Given the description of an element on the screen output the (x, y) to click on. 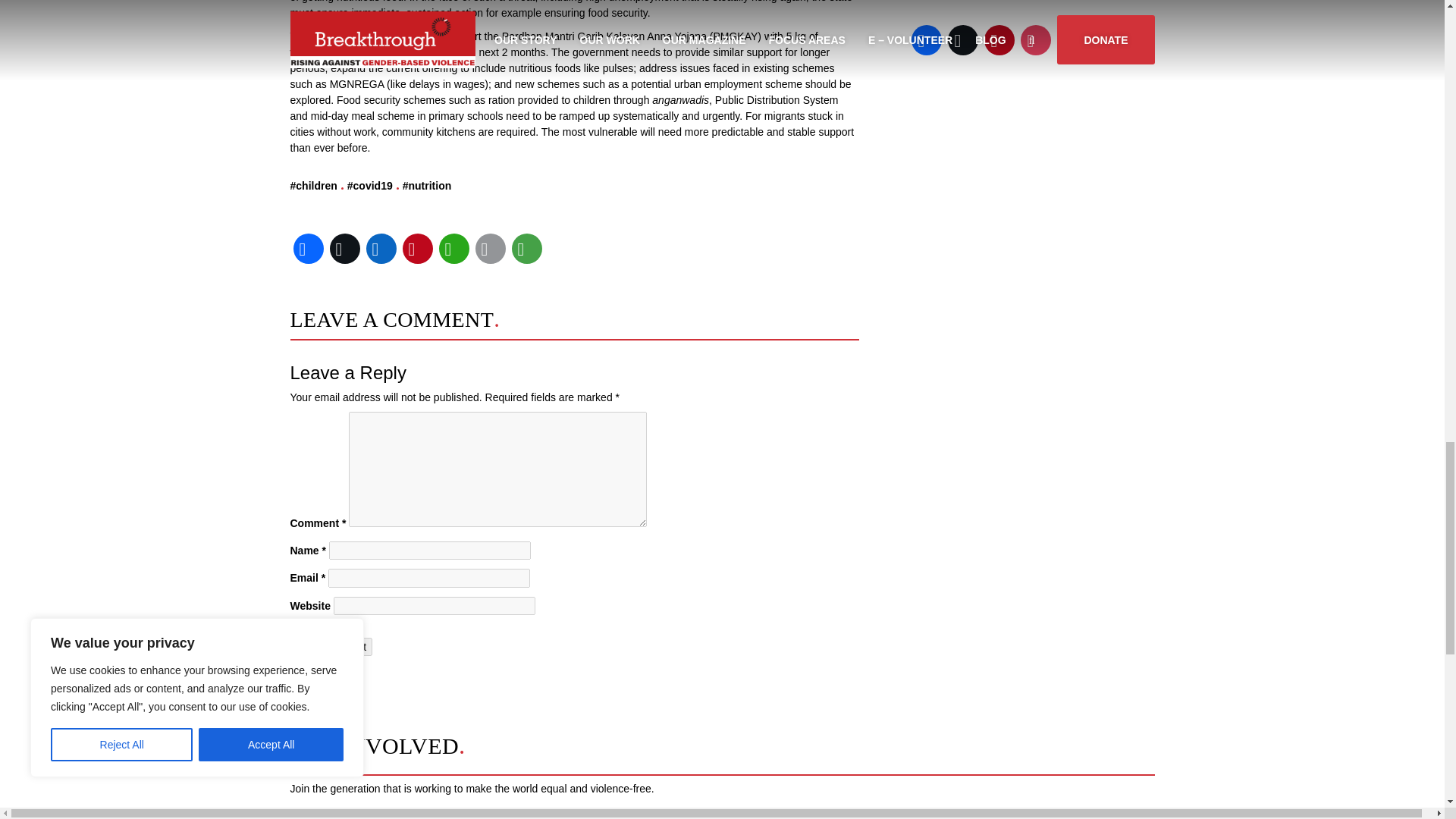
Post Comment (330, 647)
